Given the description of an element on the screen output the (x, y) to click on. 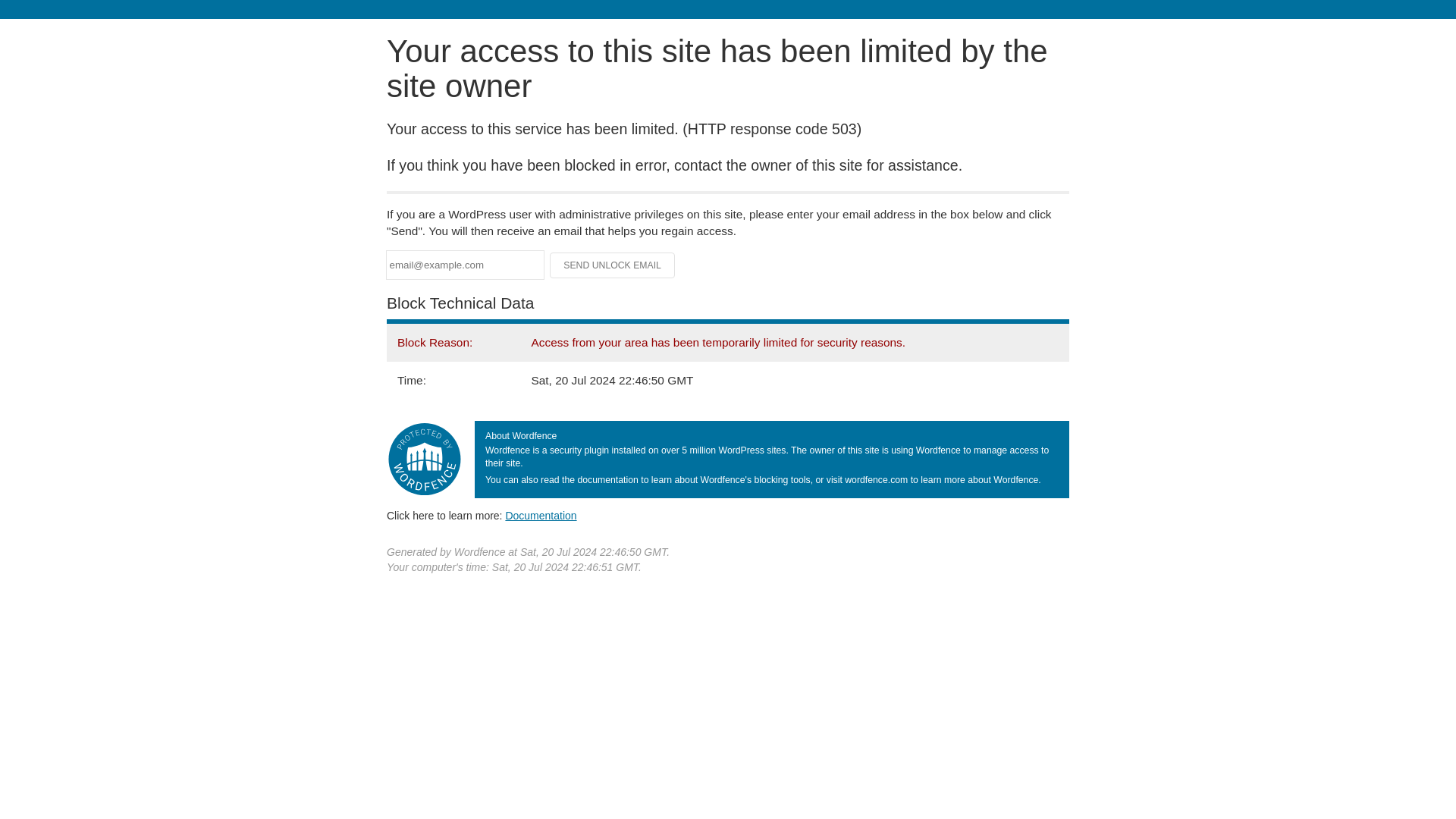
Send Unlock Email (612, 265)
Send Unlock Email (612, 265)
Documentation (540, 515)
